Given the description of an element on the screen output the (x, y) to click on. 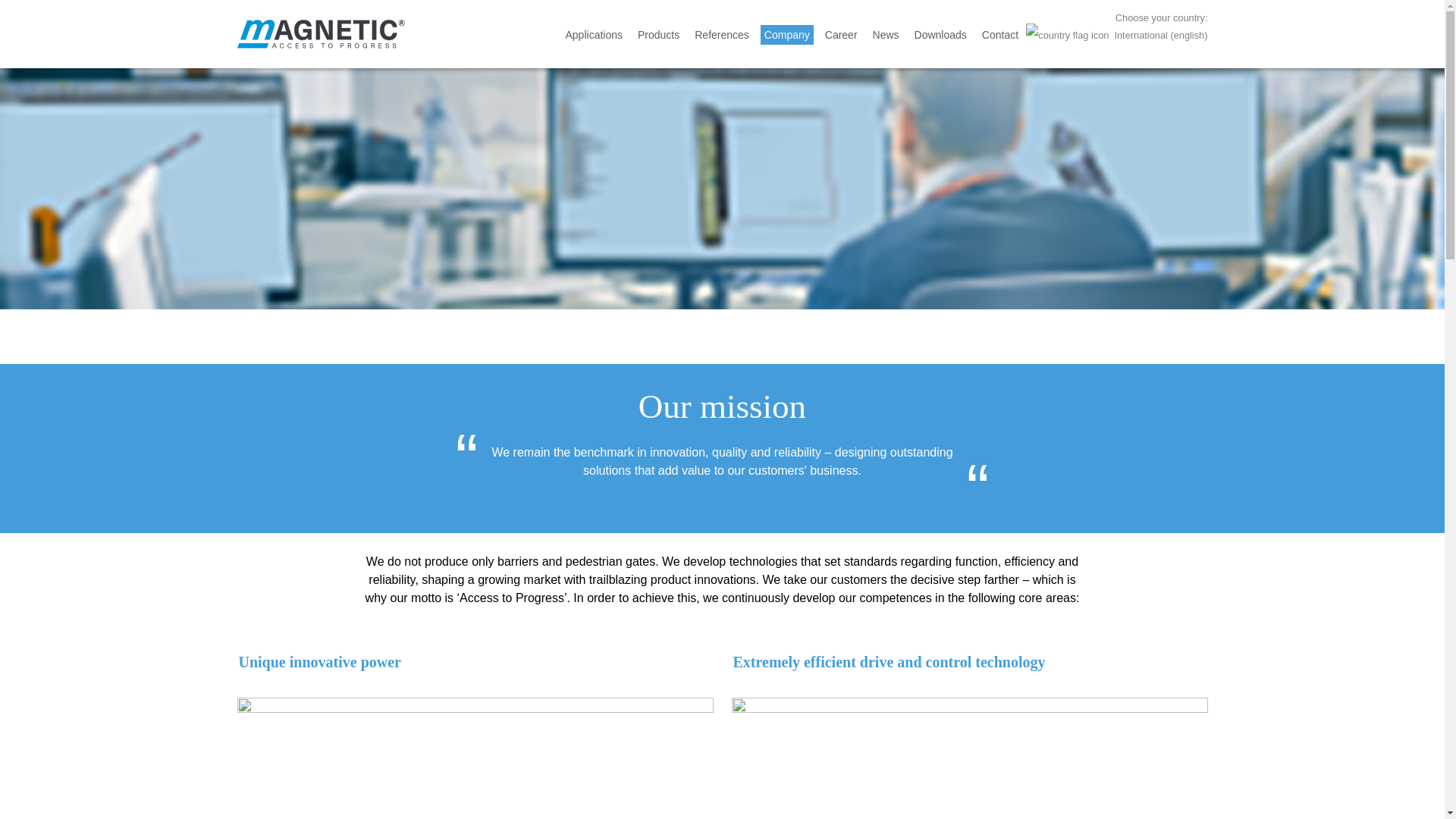
To the homepage (319, 33)
Career (841, 35)
Contact (1000, 35)
references (721, 35)
Products (657, 35)
News (885, 35)
News (885, 35)
Downloads (941, 35)
References (721, 35)
